Given the description of an element on the screen output the (x, y) to click on. 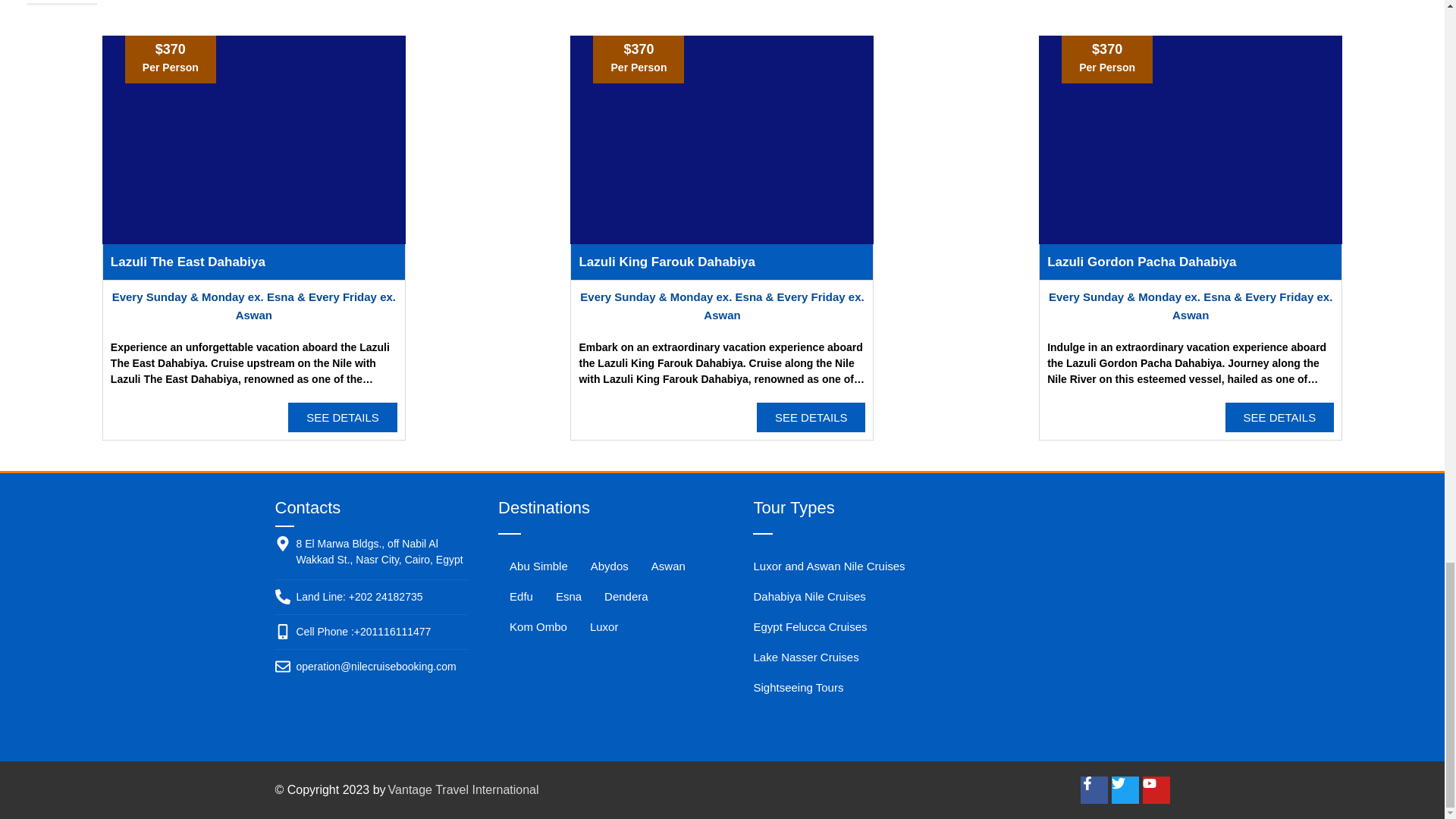
Lazuli The East Dahabiya (187, 261)
SEE DETAILS (342, 417)
